Given the description of an element on the screen output the (x, y) to click on. 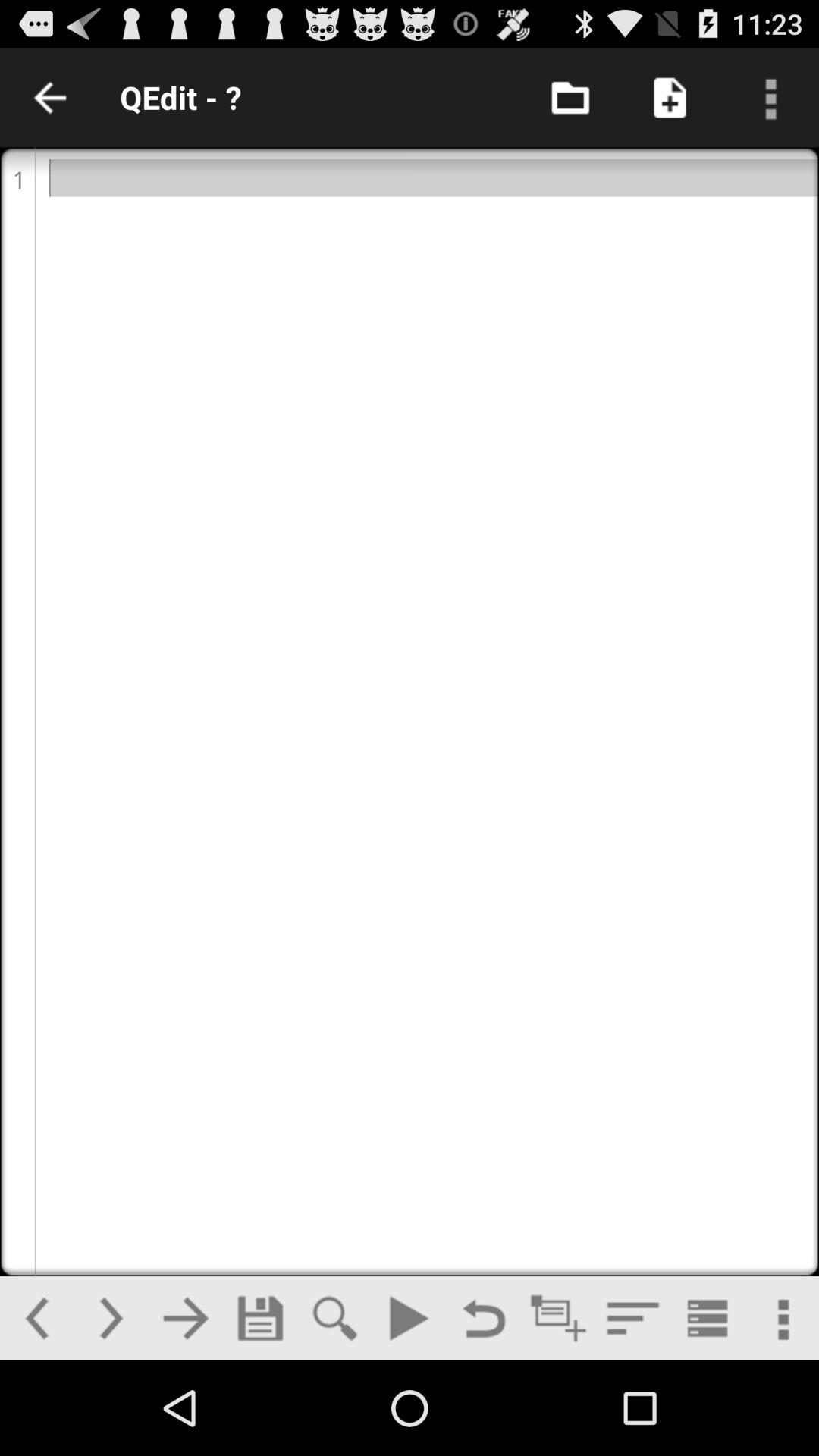
edit option (409, 711)
